Given the description of an element on the screen output the (x, y) to click on. 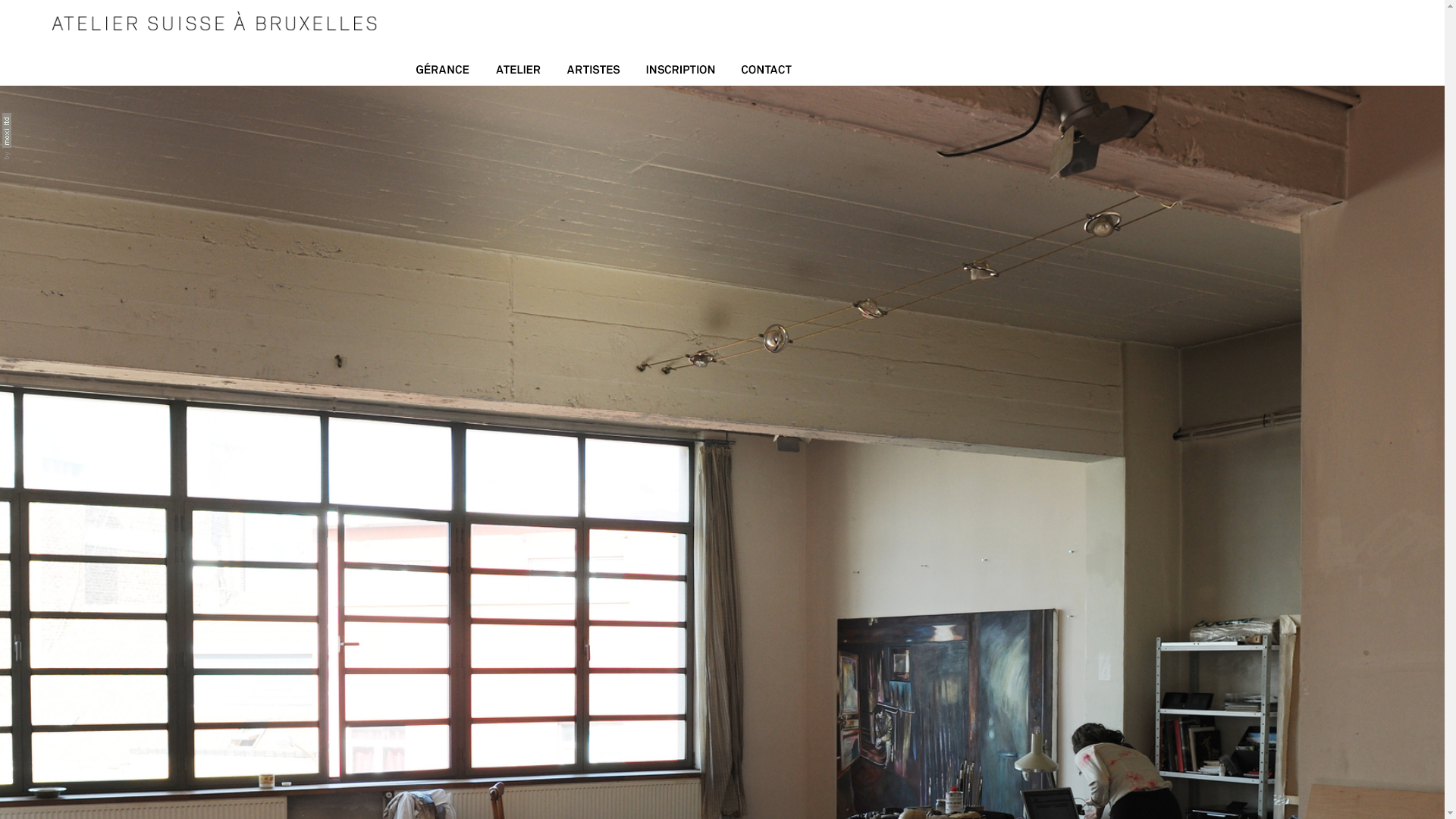
ATELIER Element type: hover (517, 73)
CONTACT Element type: hover (766, 73)
INSCRIPTION Element type: hover (680, 73)
ARTISTES Element type: hover (593, 73)
